Given the description of an element on the screen output the (x, y) to click on. 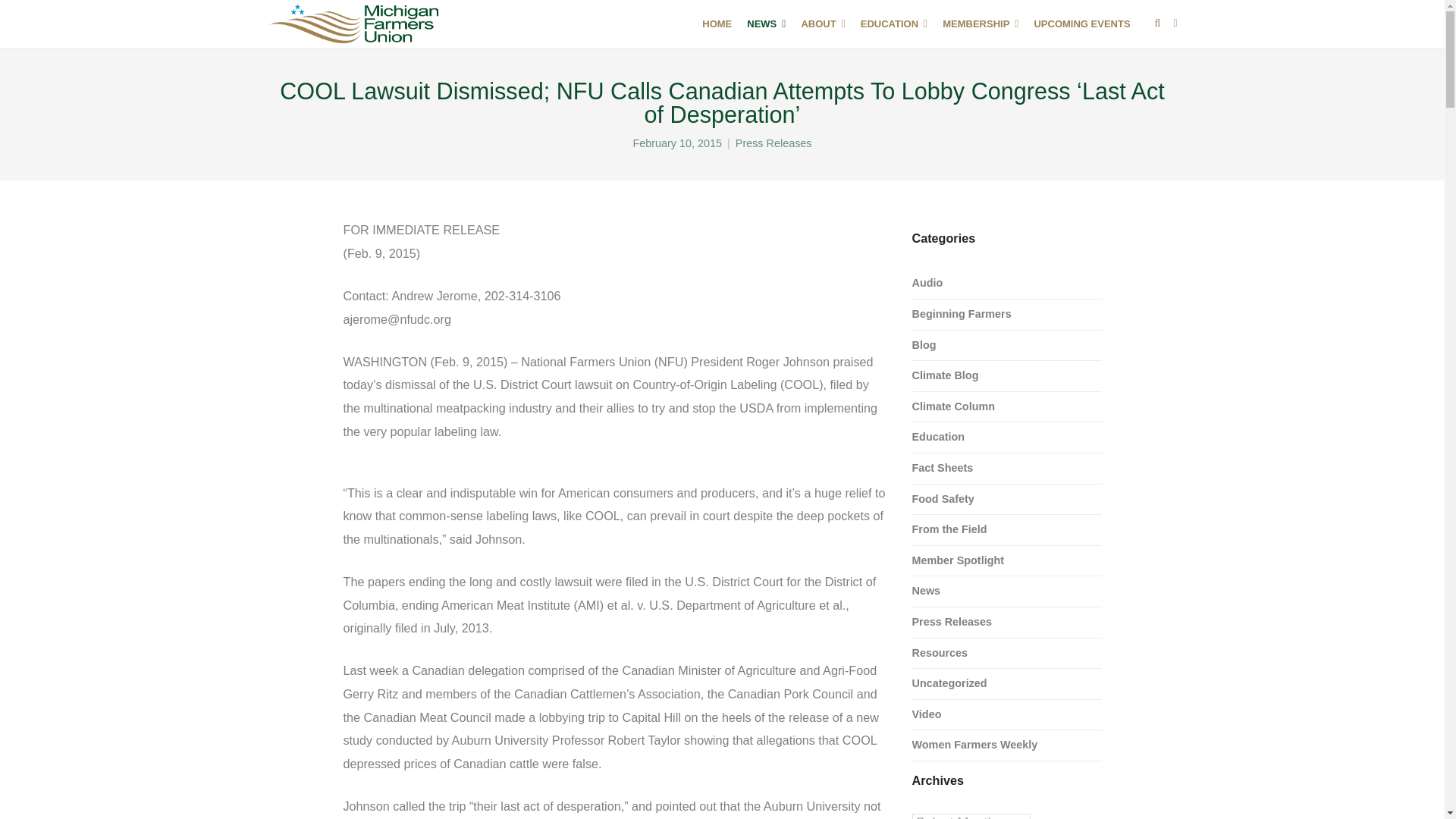
View all posts in Press Releases (773, 143)
